Given the description of an element on the screen output the (x, y) to click on. 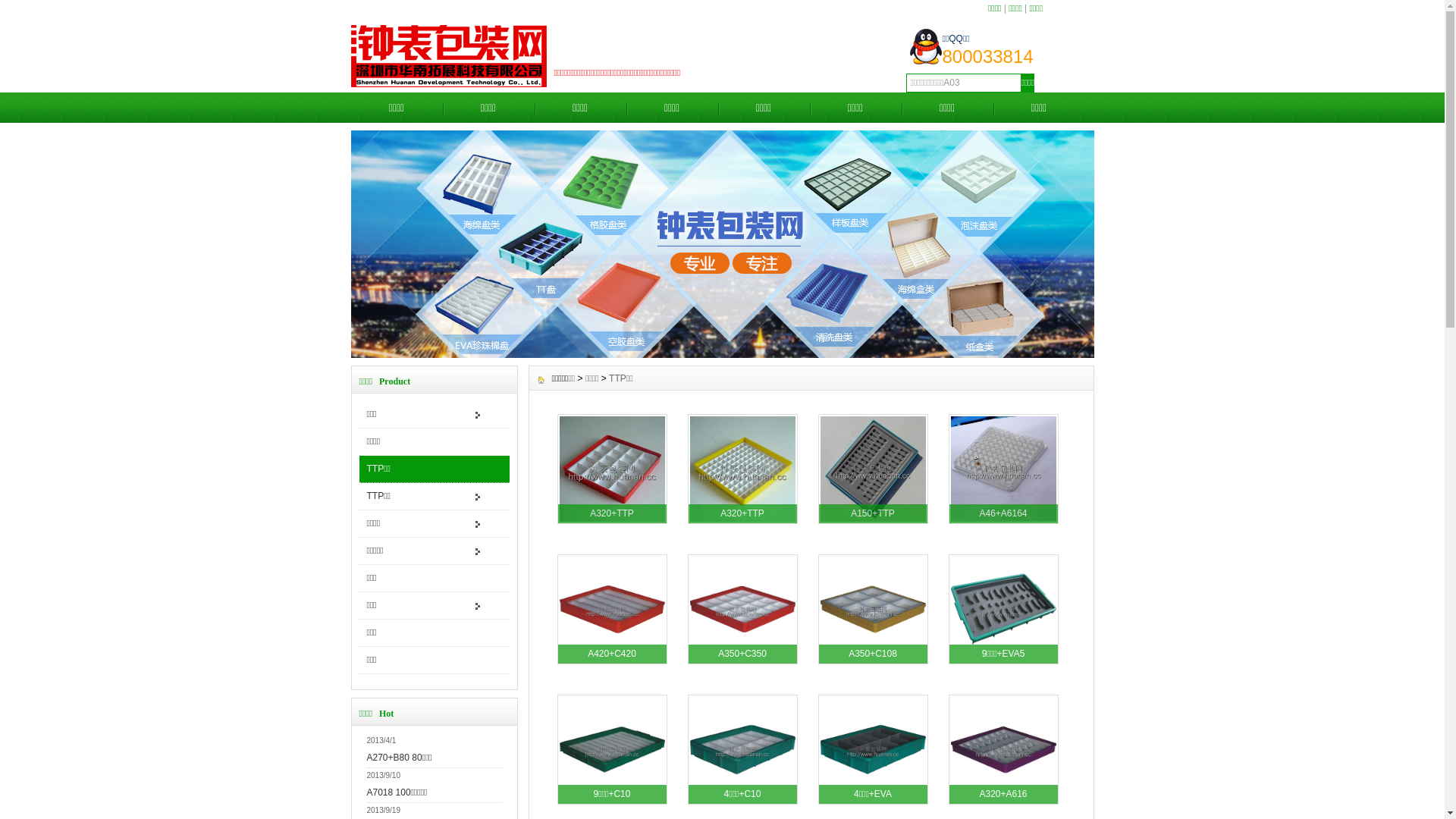
A320+TTP Element type: text (612, 528)
A320+TTP Element type: text (742, 528)
www.huanan.cc Element type: hover (721, 354)
A150+TTP Element type: text (873, 528)
A350+C350 Element type: text (742, 668)
A46+A6164 Element type: text (1003, 528)
A420+C420 Element type: text (612, 668)
A350+C108 Element type: text (873, 668)
